Given the description of an element on the screen output the (x, y) to click on. 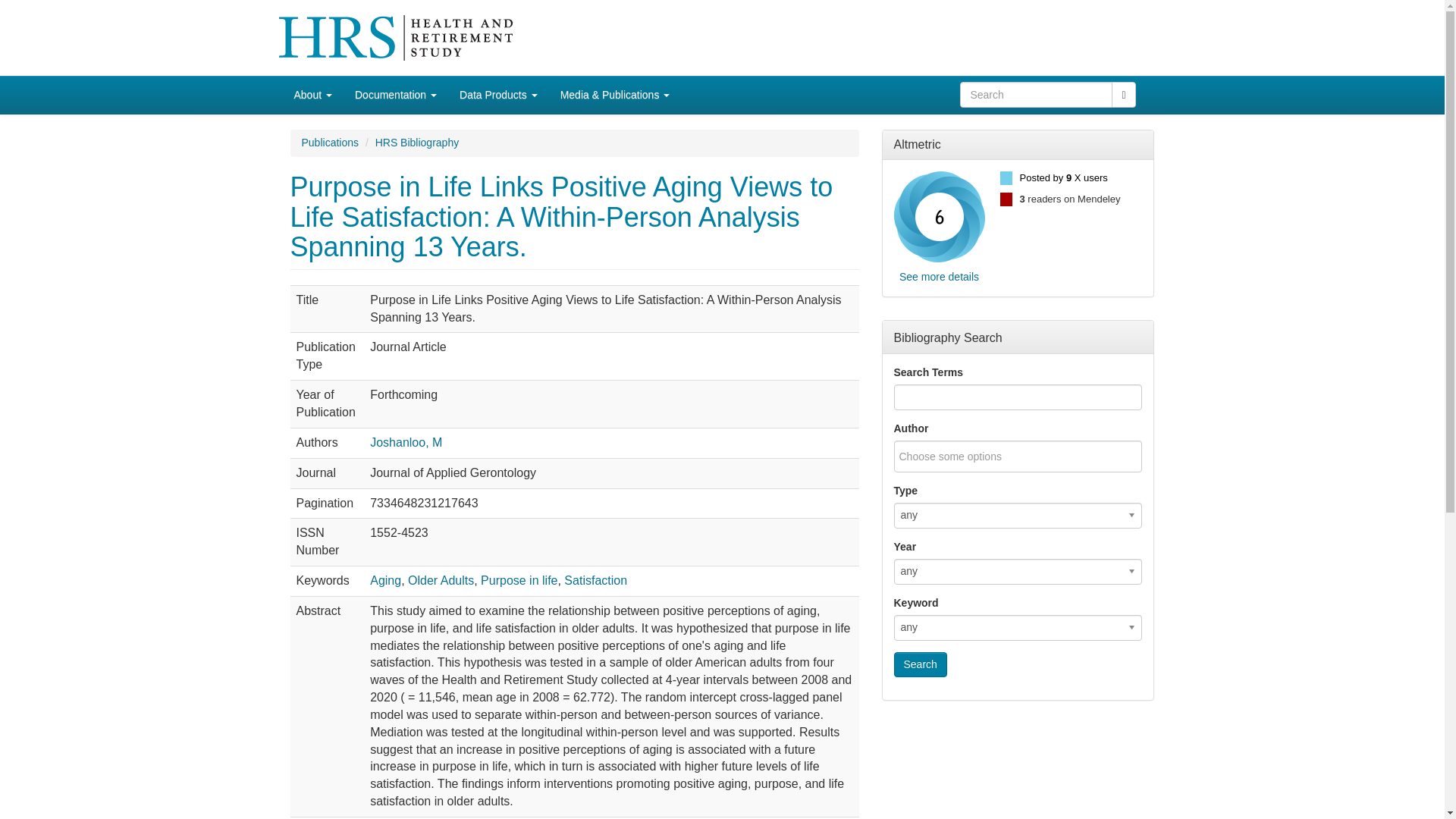
About (312, 94)
Choose some options (959, 456)
Documentation (395, 94)
Data Products (498, 94)
